Given the description of an element on the screen output the (x, y) to click on. 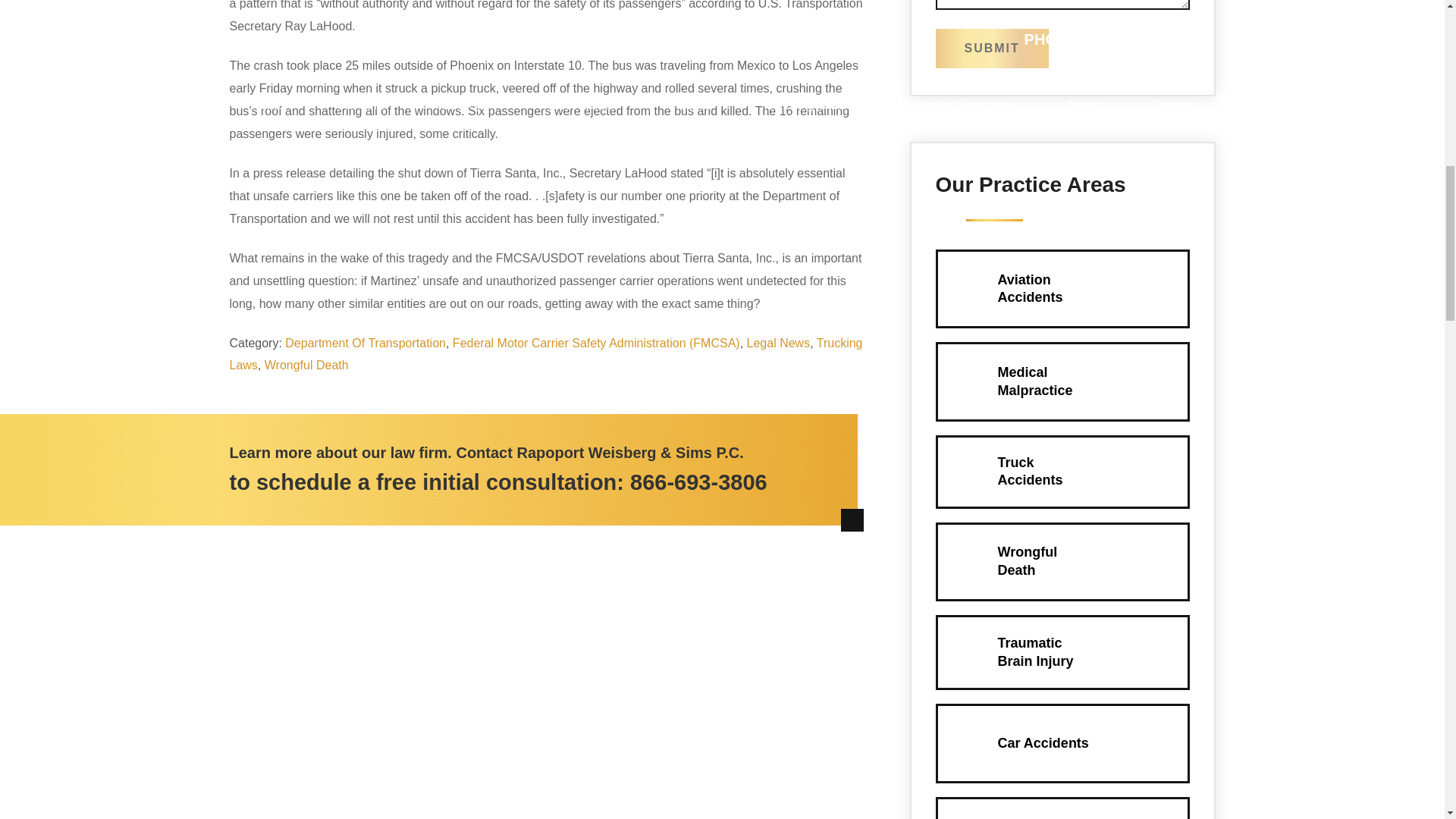
Submit (992, 47)
Wrongful Death (306, 364)
Legal News (1061, 561)
866-693-3806 (1061, 288)
Submit (778, 342)
Trucking Laws (698, 482)
